Given the description of an element on the screen output the (x, y) to click on. 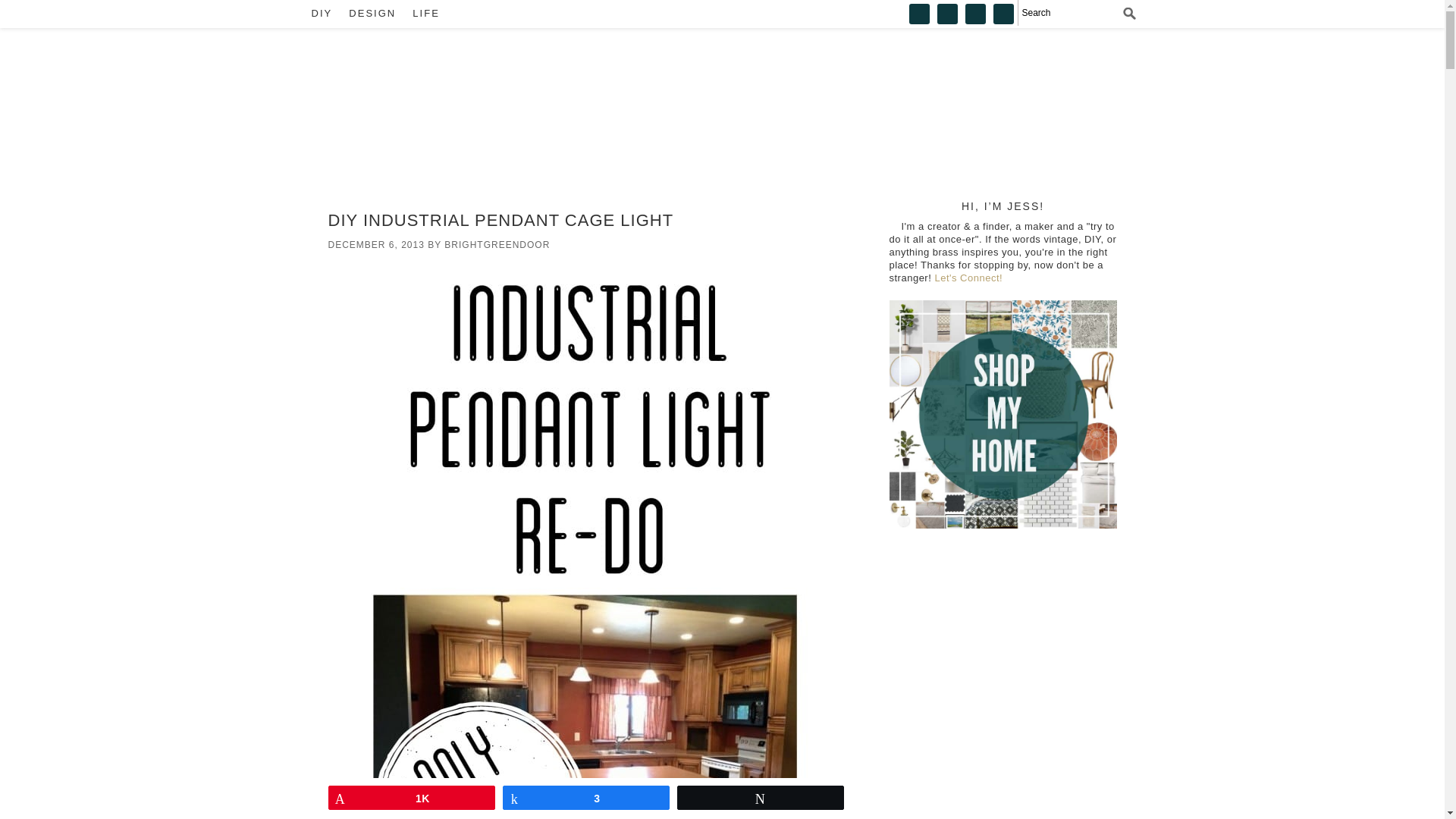
DESIGN (371, 13)
BRIGHT GREEN DOOR (418, 106)
DIY (320, 13)
LIFE (425, 13)
BRIGHTGREENDOOR (497, 244)
